Given the description of an element on the screen output the (x, y) to click on. 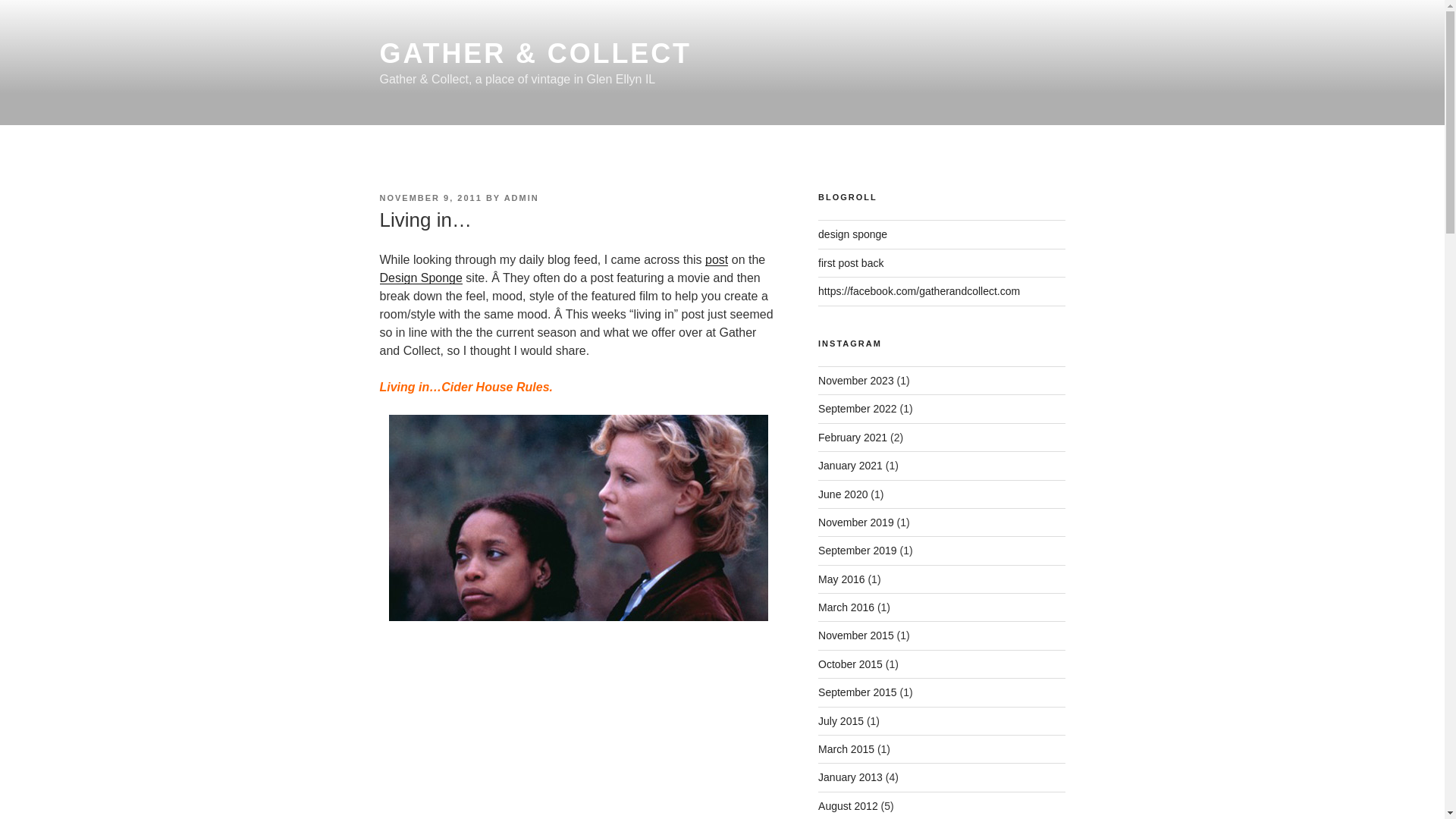
March 2015 (846, 748)
September 2019 (857, 550)
November 2019 (855, 522)
post (716, 259)
October 2015 (850, 664)
first post back (850, 263)
design sponge (852, 234)
June 2020 (842, 494)
May 2016 (841, 579)
November 2023 (855, 380)
Design Sponge (571, 286)
September 2022 (857, 408)
January 2013 (850, 776)
January 2021 (850, 465)
